Given the description of an element on the screen output the (x, y) to click on. 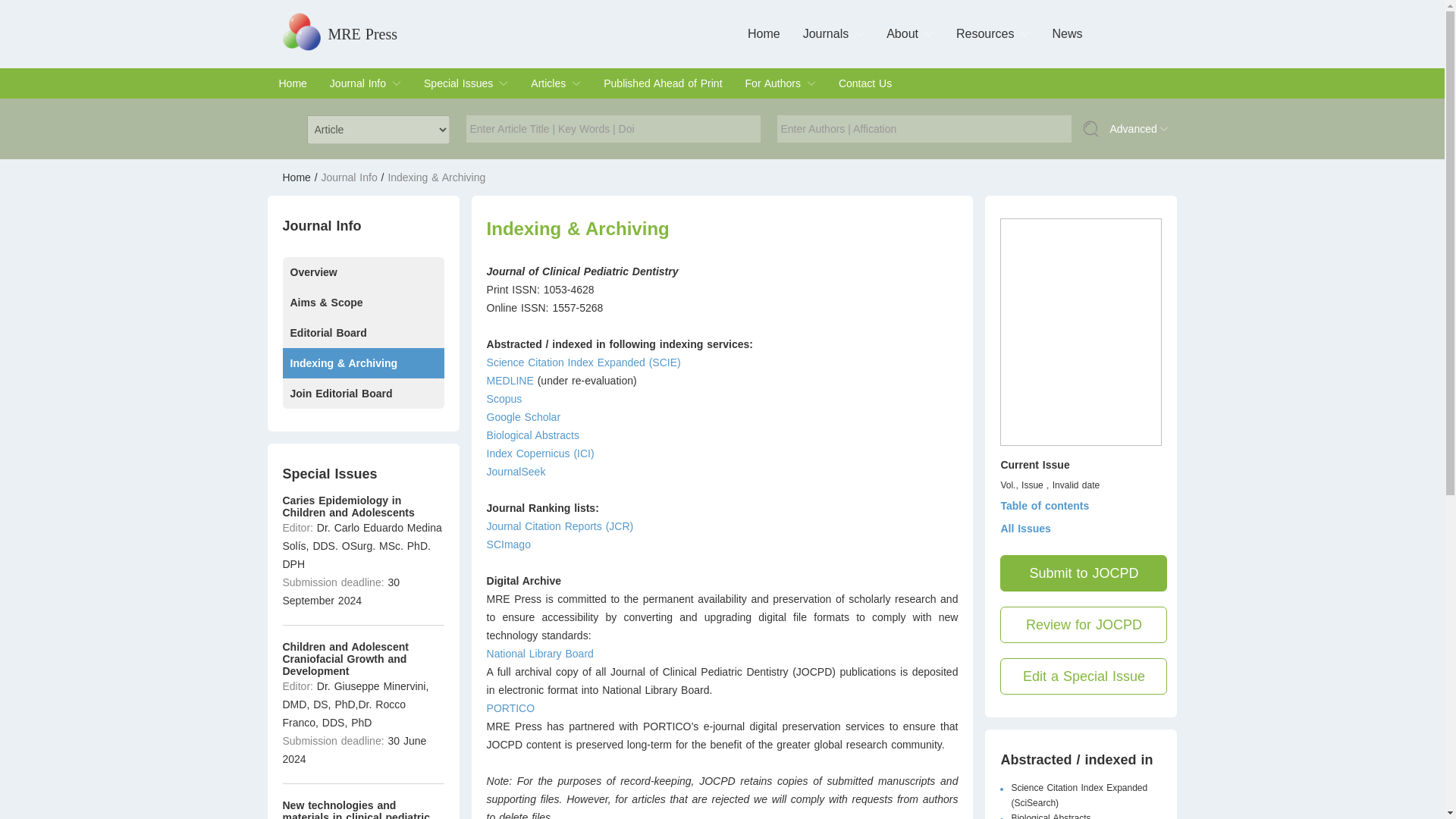
Journal Info (357, 82)
Special Issues (458, 82)
MRE Press (362, 33)
About (902, 33)
Resources (984, 33)
Home (764, 33)
Articles (548, 82)
Journals (825, 33)
Home (293, 82)
News (1066, 33)
